Given the description of an element on the screen output the (x, y) to click on. 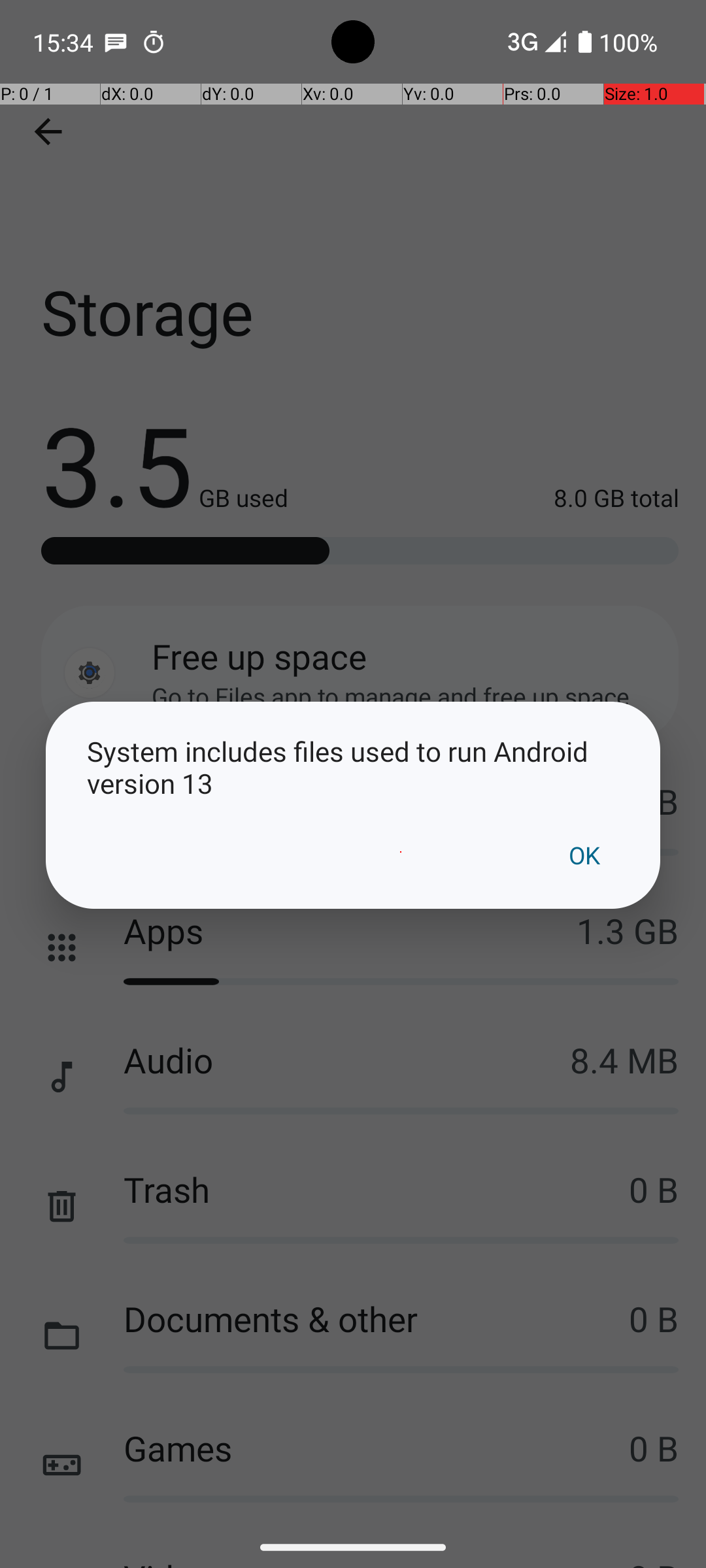
System includes files used to run Android version 13 Element type: android.widget.TextView (352, 766)
